Given the description of an element on the screen output the (x, y) to click on. 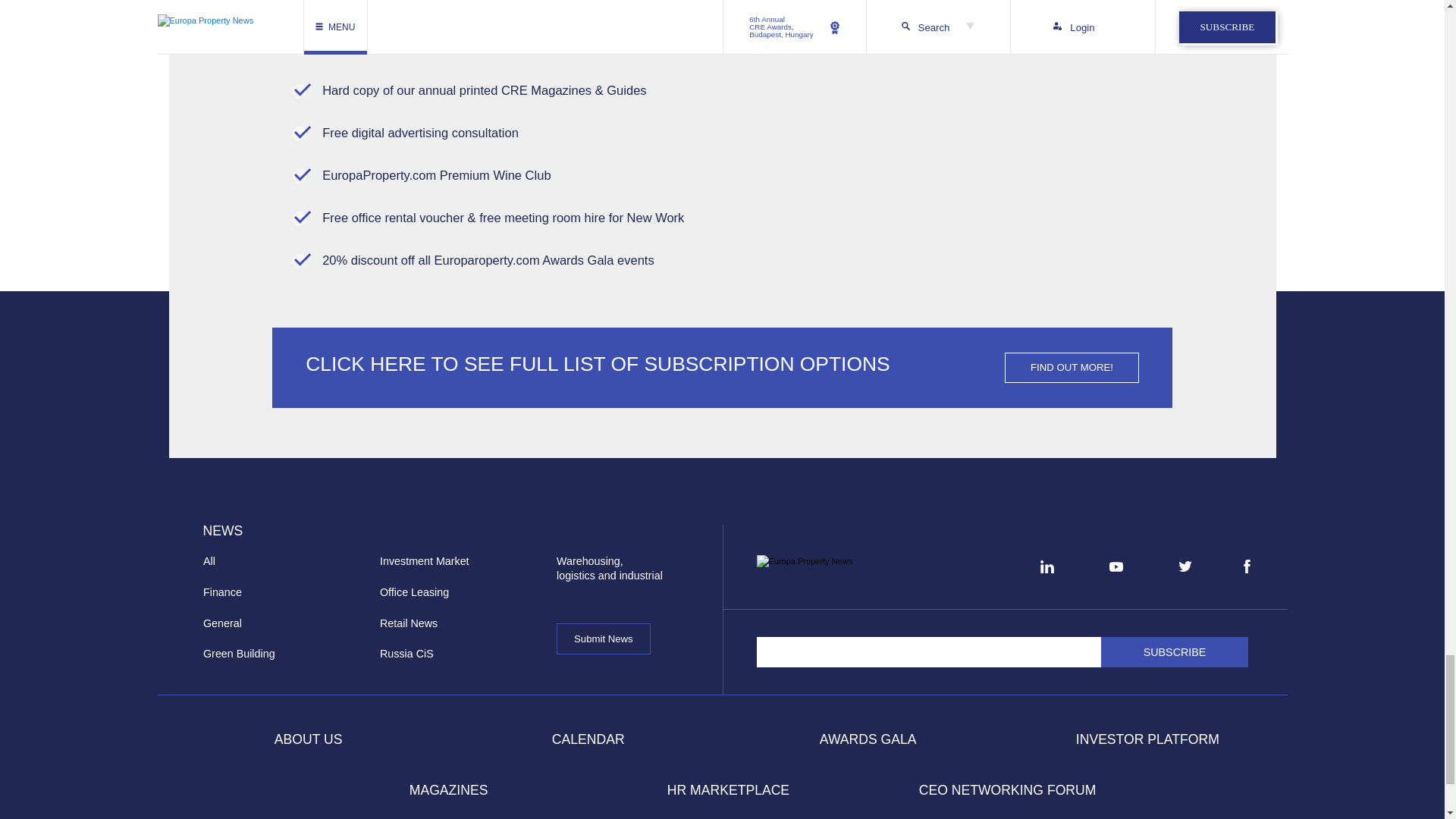
Subscribe (1174, 652)
Twitter (1184, 566)
LinkedIn (1047, 566)
YouTube (1116, 566)
